Given the description of an element on the screen output the (x, y) to click on. 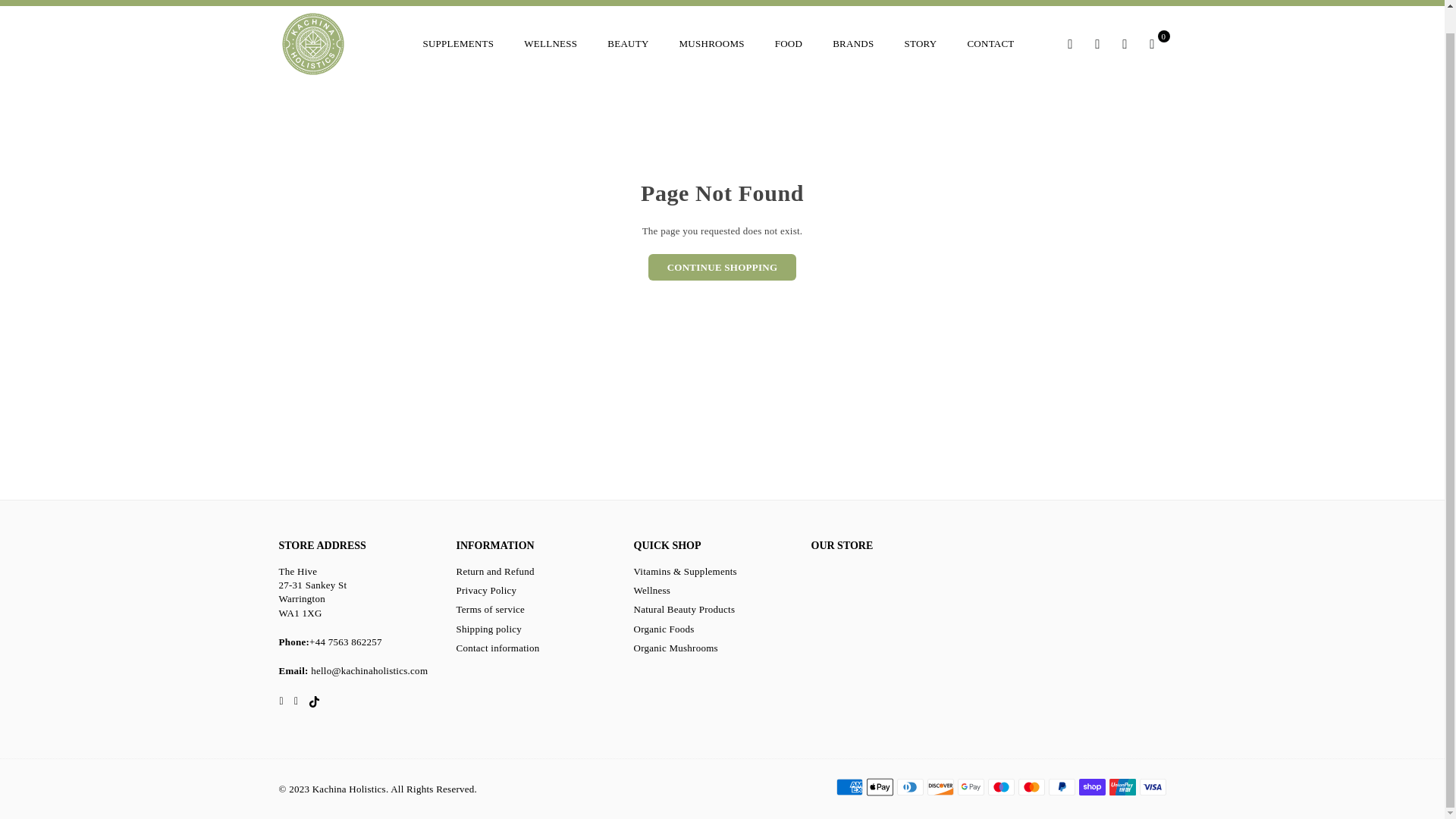
Cart (1152, 43)
PayPal (1061, 787)
Settings (1098, 43)
Maestro (1000, 787)
Search (1070, 43)
Apple Pay (879, 787)
American Express (848, 787)
Google Pay (970, 787)
Kachina Holistics on Instagram (295, 700)
Discover (939, 787)
